Given the description of an element on the screen output the (x, y) to click on. 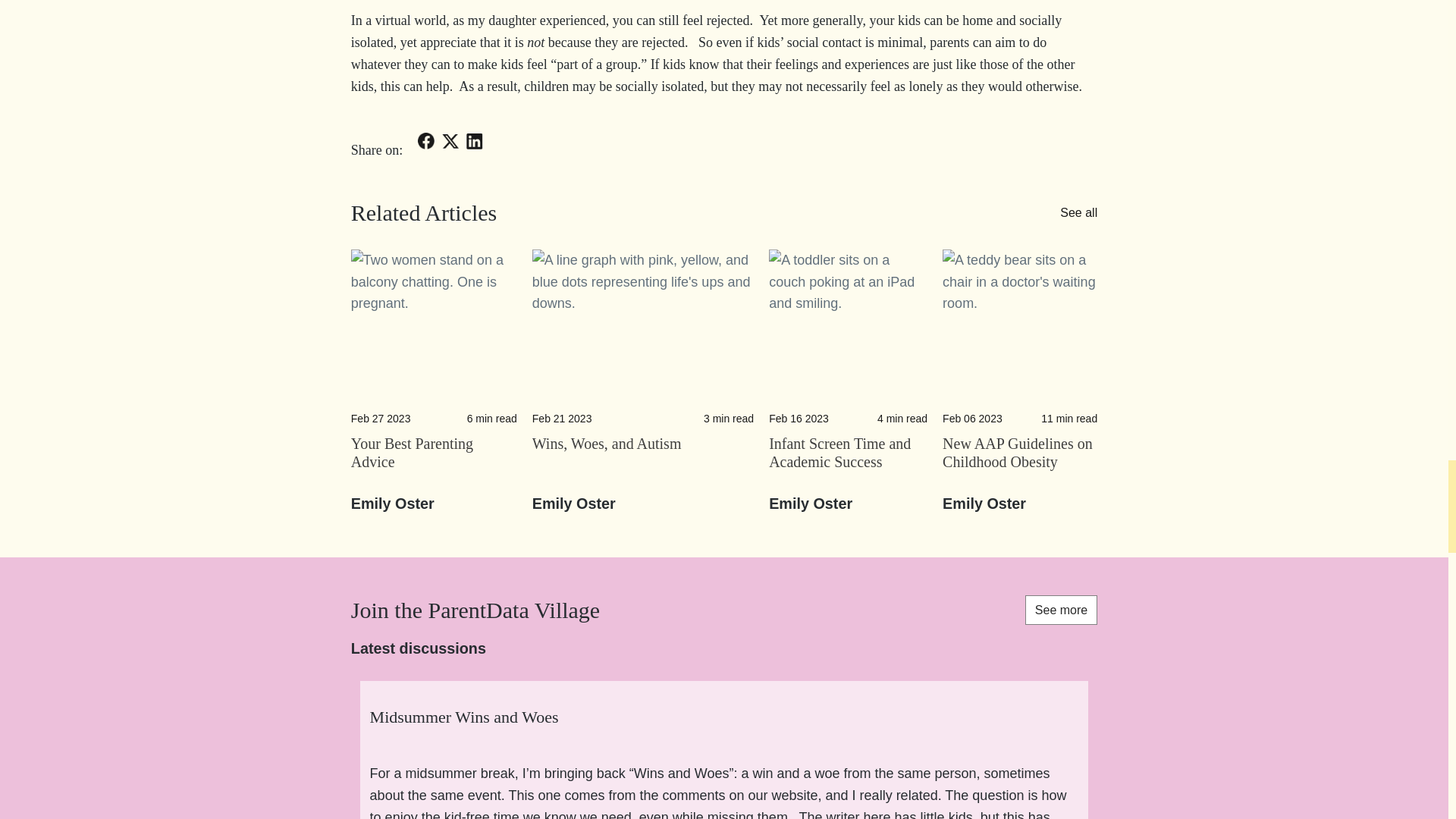
Infant Screen Time and Academic Success (847, 460)
Your Best Parenting Advice (433, 303)
Wins, Woes, and Autism (643, 303)
Wins, Woes, and Autism (643, 460)
Your Best Parenting Advice (433, 460)
New AAP Guidelines on Childhood Obesity (1019, 460)
New AAP Guidelines on Childhood Obesity (1019, 303)
Infant Screen Time and Academic Success (847, 303)
